Given the description of an element on the screen output the (x, y) to click on. 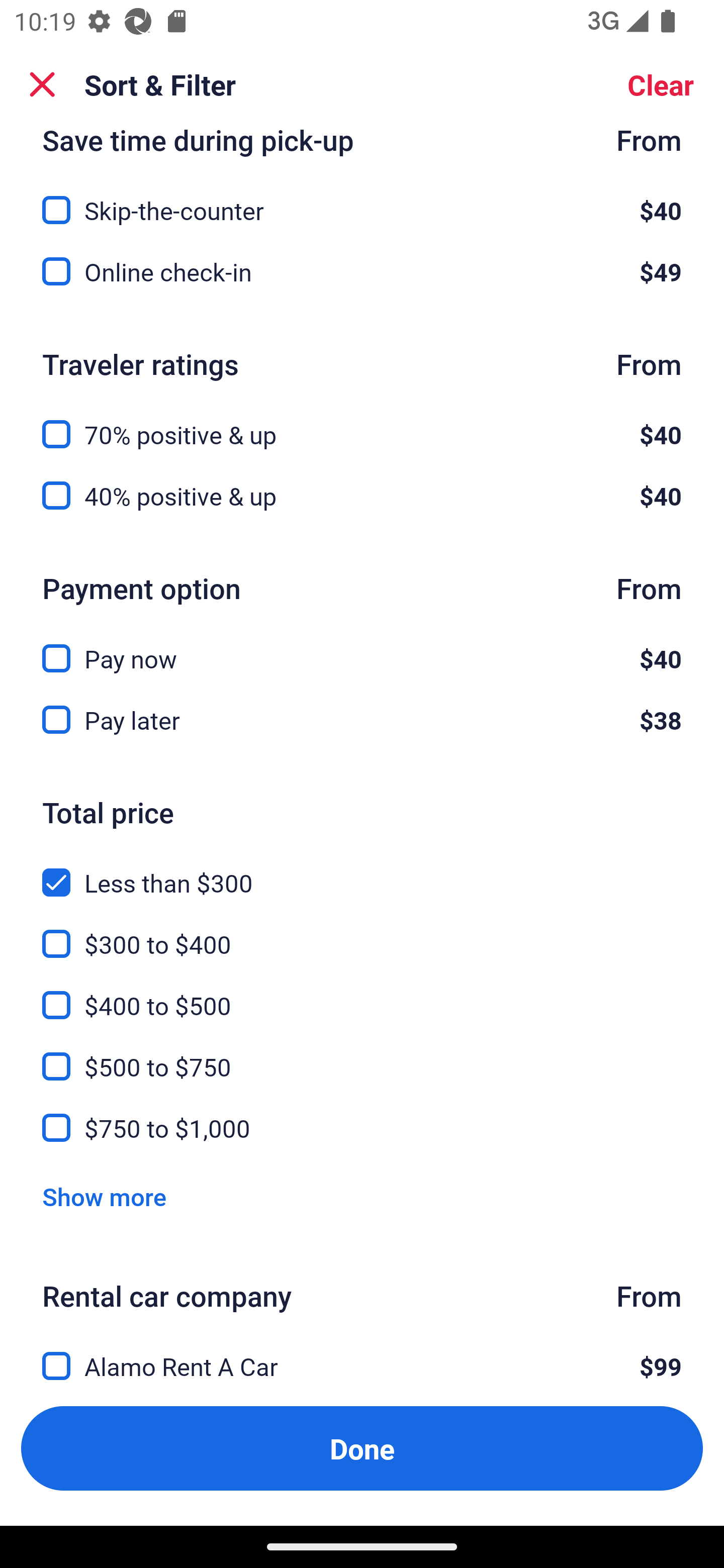
Close Sort and Filter (42, 84)
Clear (660, 84)
Skip-the-counter, $40 Skip-the-counter $40 (361, 197)
Online check-in, $49 Online check-in $49 (361, 270)
70% positive & up, $40 70% positive & up $40 (361, 422)
40% positive & up, $40 40% positive & up $40 (361, 495)
Pay now, $40 Pay now $40 (361, 646)
Pay later, $38 Pay later $38 (361, 719)
Less than $300, Less than $300 (361, 870)
$300 to $400, $300 to $400 (361, 931)
$400 to $500, $400 to $500 (361, 993)
$500 to $750, $500 to $750 (361, 1055)
$750 to $1,000, $750 to $1,000 (361, 1127)
Show more Show more Link (103, 1196)
Alamo Rent A Car, $99 Alamo Rent A Car $99 (361, 1355)
Apply and close Sort and Filter Done (361, 1448)
